Given the description of an element on the screen output the (x, y) to click on. 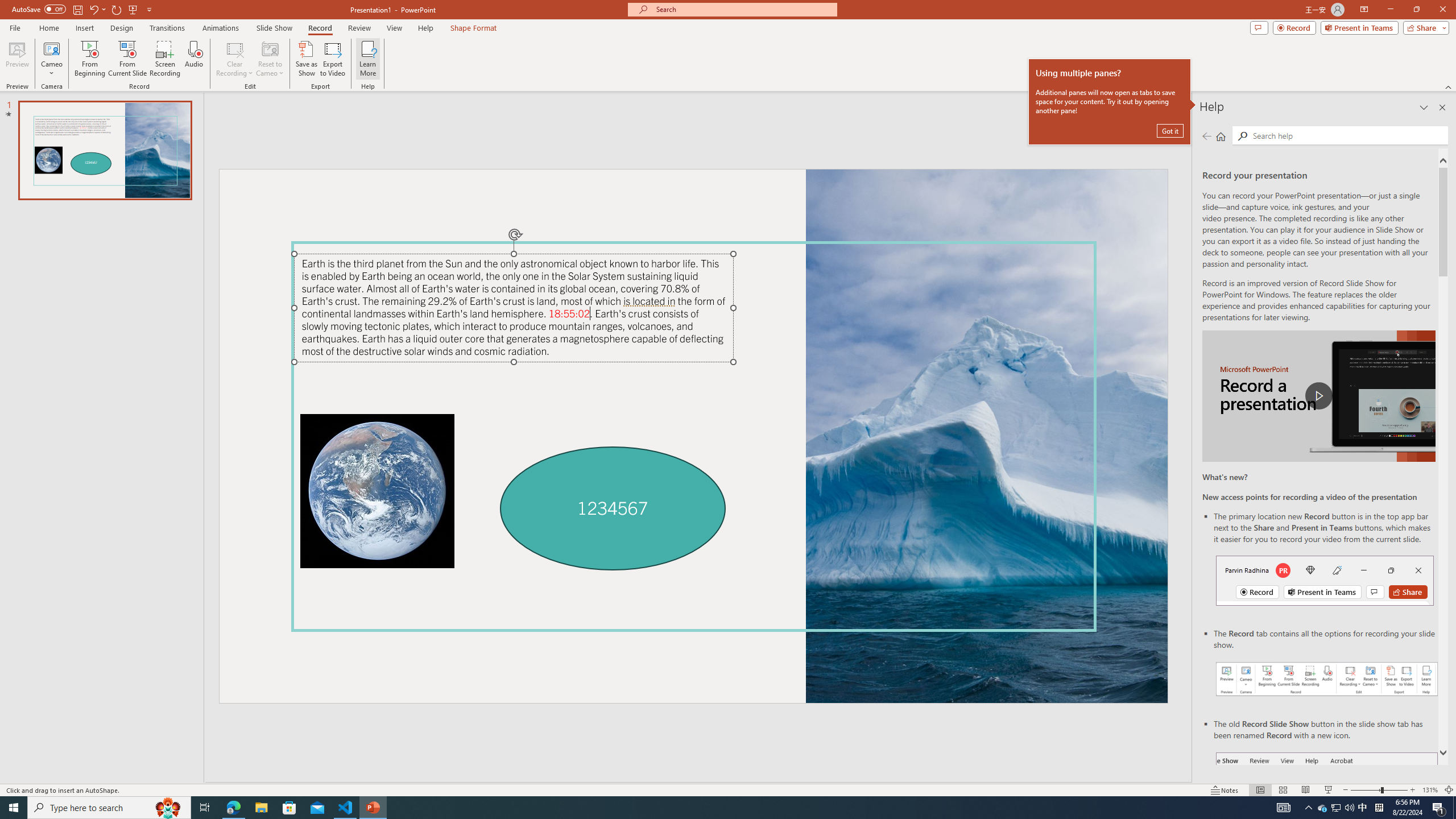
Reset to Cameo (269, 58)
